Given the description of an element on the screen output the (x, y) to click on. 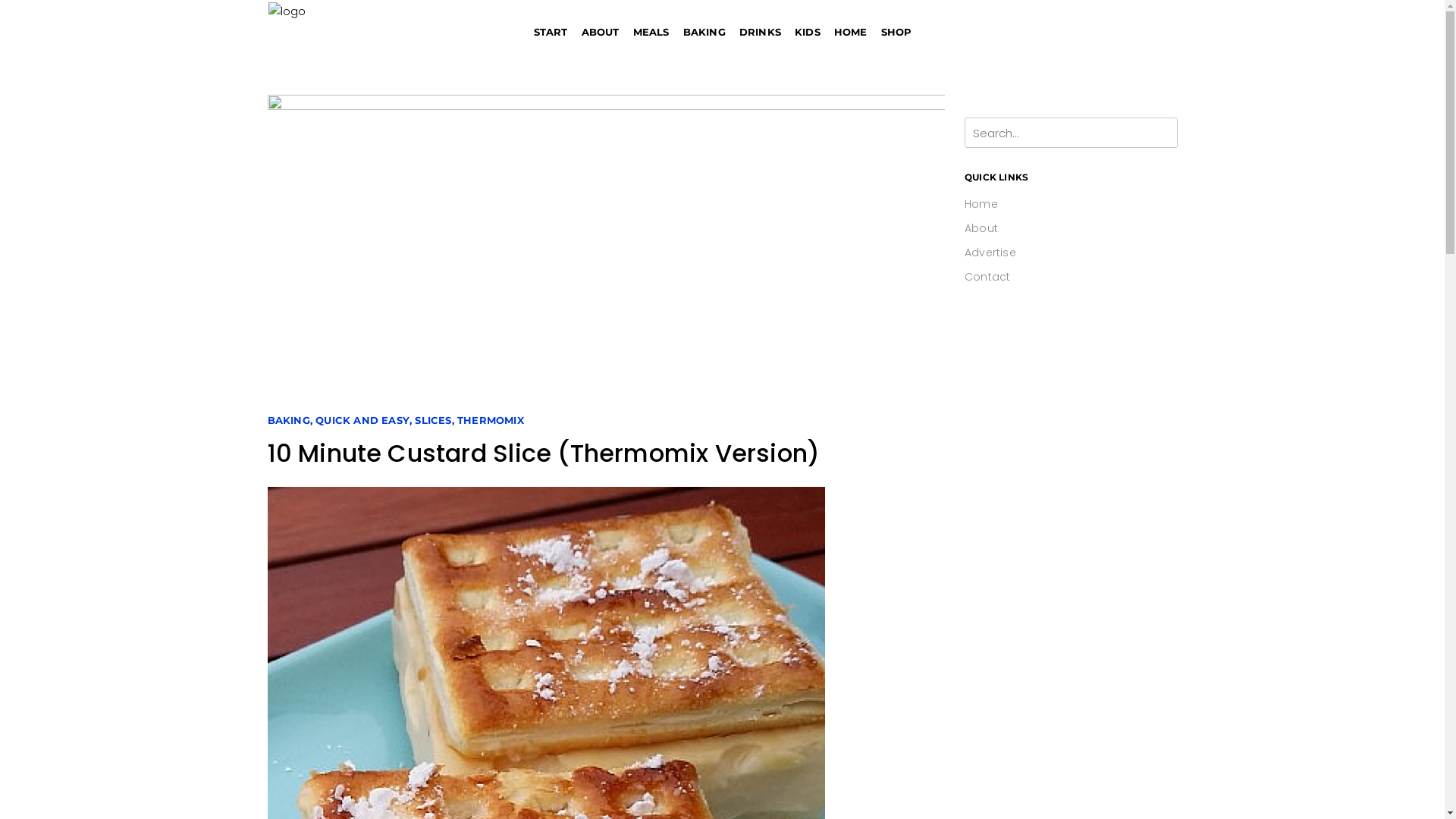
QUICK AND EASY Element type: text (362, 420)
BAKING Element type: text (704, 31)
SHOP Element type: text (896, 31)
START Element type: text (550, 31)
Contact Element type: text (987, 276)
MEALS Element type: text (651, 31)
DRINKS Element type: text (759, 31)
BAKING Element type: text (287, 420)
THERMOMIX Element type: text (490, 420)
About Element type: text (980, 227)
ABOUT Element type: text (600, 31)
HOME Element type: text (850, 31)
Home Element type: text (980, 203)
SLICES Element type: text (432, 420)
Search for: Element type: hover (1056, 132)
Advertise Element type: text (990, 252)
KIDS Element type: text (807, 31)
